Given the description of an element on the screen output the (x, y) to click on. 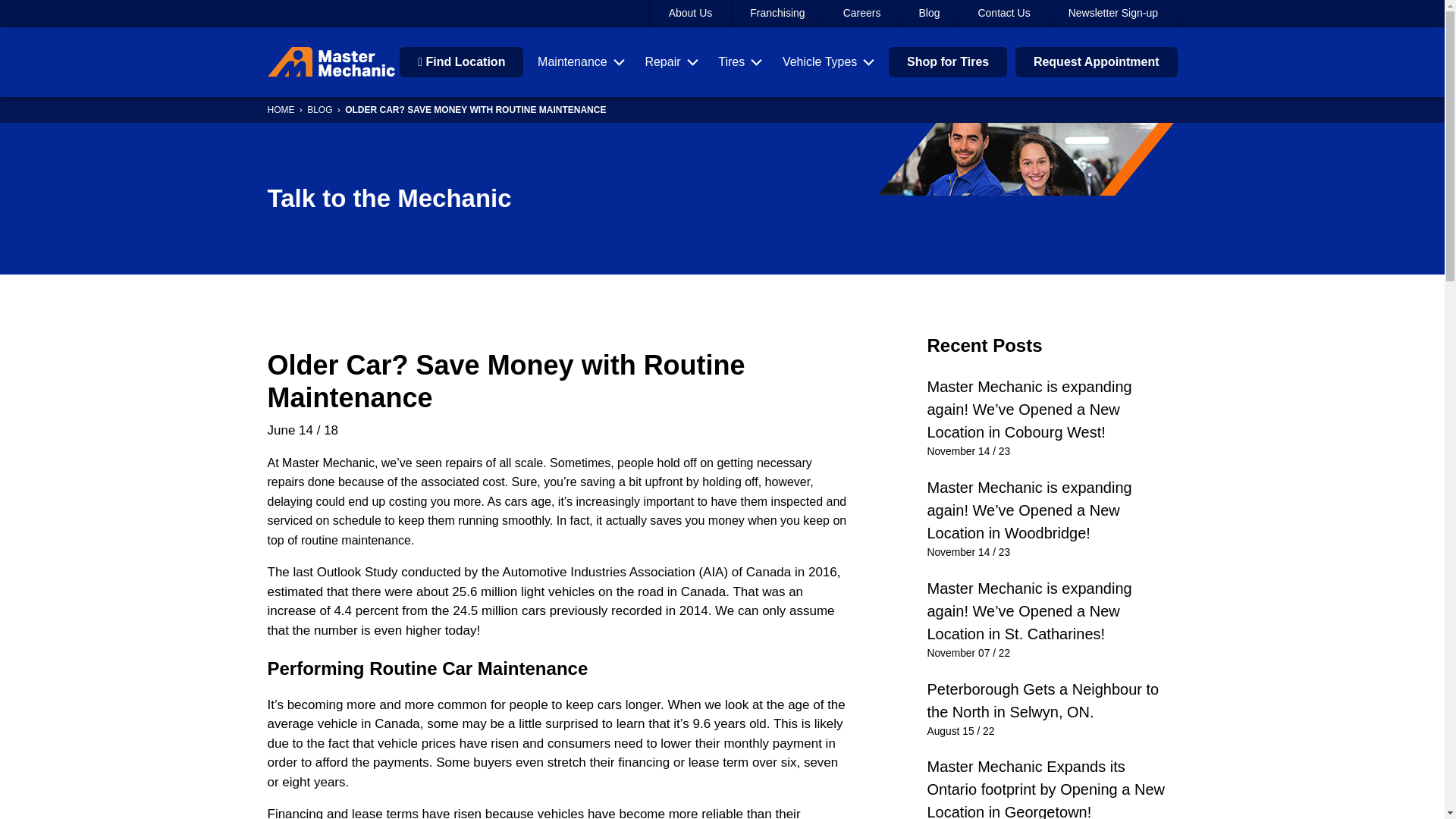
Careers (861, 13)
Tires (739, 62)
Repair (671, 62)
Maintenance (580, 62)
Newsletter Sign-up (1112, 13)
Contact Us (1004, 13)
Franchising (778, 13)
About Us (690, 13)
Find Location (460, 61)
Blog (929, 13)
